Given the description of an element on the screen output the (x, y) to click on. 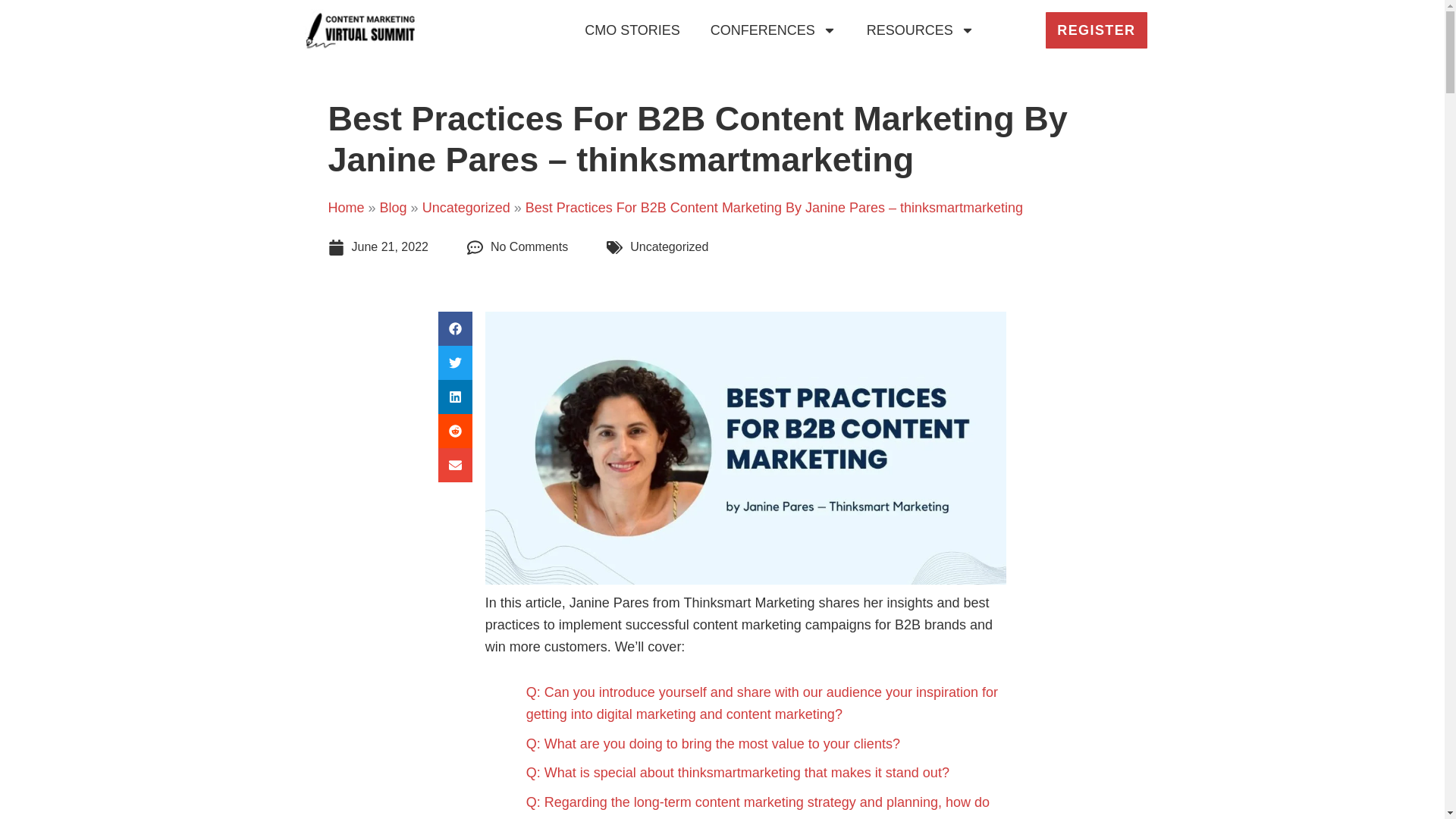
CONFERENCES (773, 30)
RESOURCES (920, 30)
Home (345, 207)
REGISTER (1096, 30)
Uncategorized (466, 207)
CMO STORIES (632, 30)
Blog (393, 207)
